Given the description of an element on the screen output the (x, y) to click on. 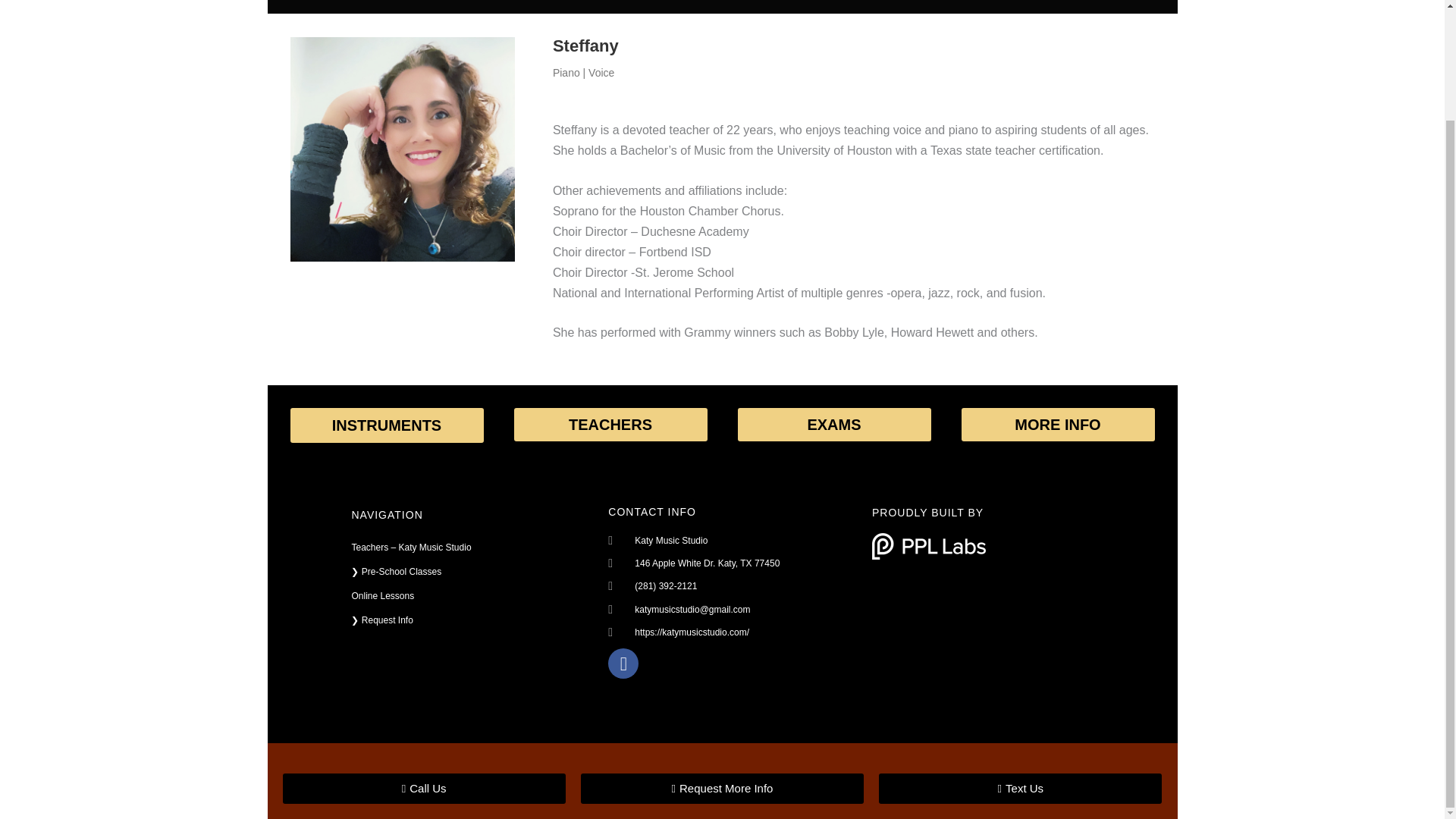
INSTRUMENTS (487, 2)
REQUEST INFO (955, 2)
ACADEMIC EXAM PROGRAM (820, 2)
